Given the description of an element on the screen output the (x, y) to click on. 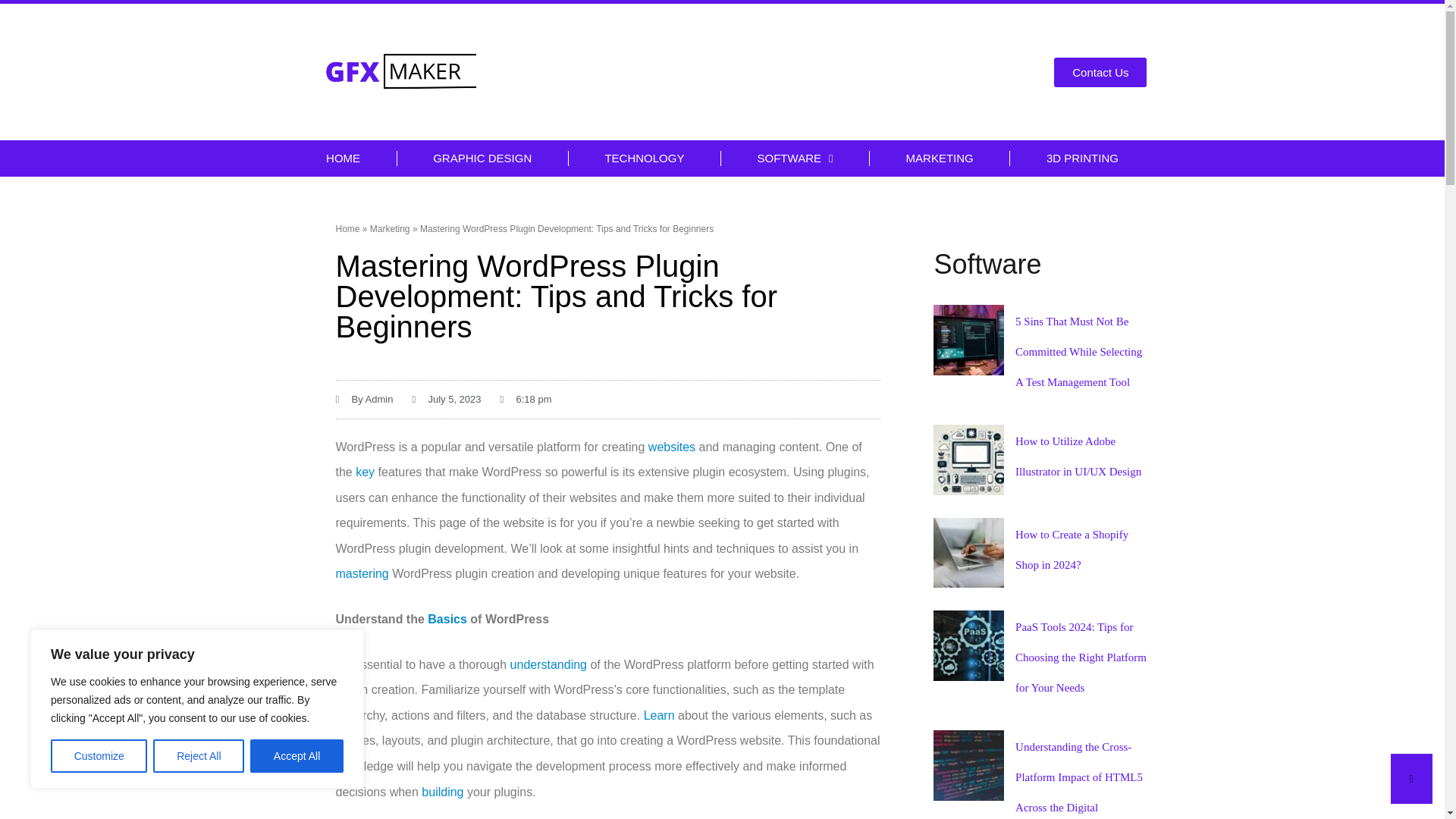
Reject All (198, 756)
SOFTWARE (794, 158)
key (364, 472)
Home (346, 228)
By Admin (363, 399)
Basics (447, 618)
Customize (98, 756)
websites (671, 445)
TECHNOLOGY (644, 158)
Learn (659, 715)
websites (671, 445)
MARKETING (939, 158)
Accept All (296, 756)
mastering (361, 573)
GRAPHIC DESIGN (482, 158)
